Given the description of an element on the screen output the (x, y) to click on. 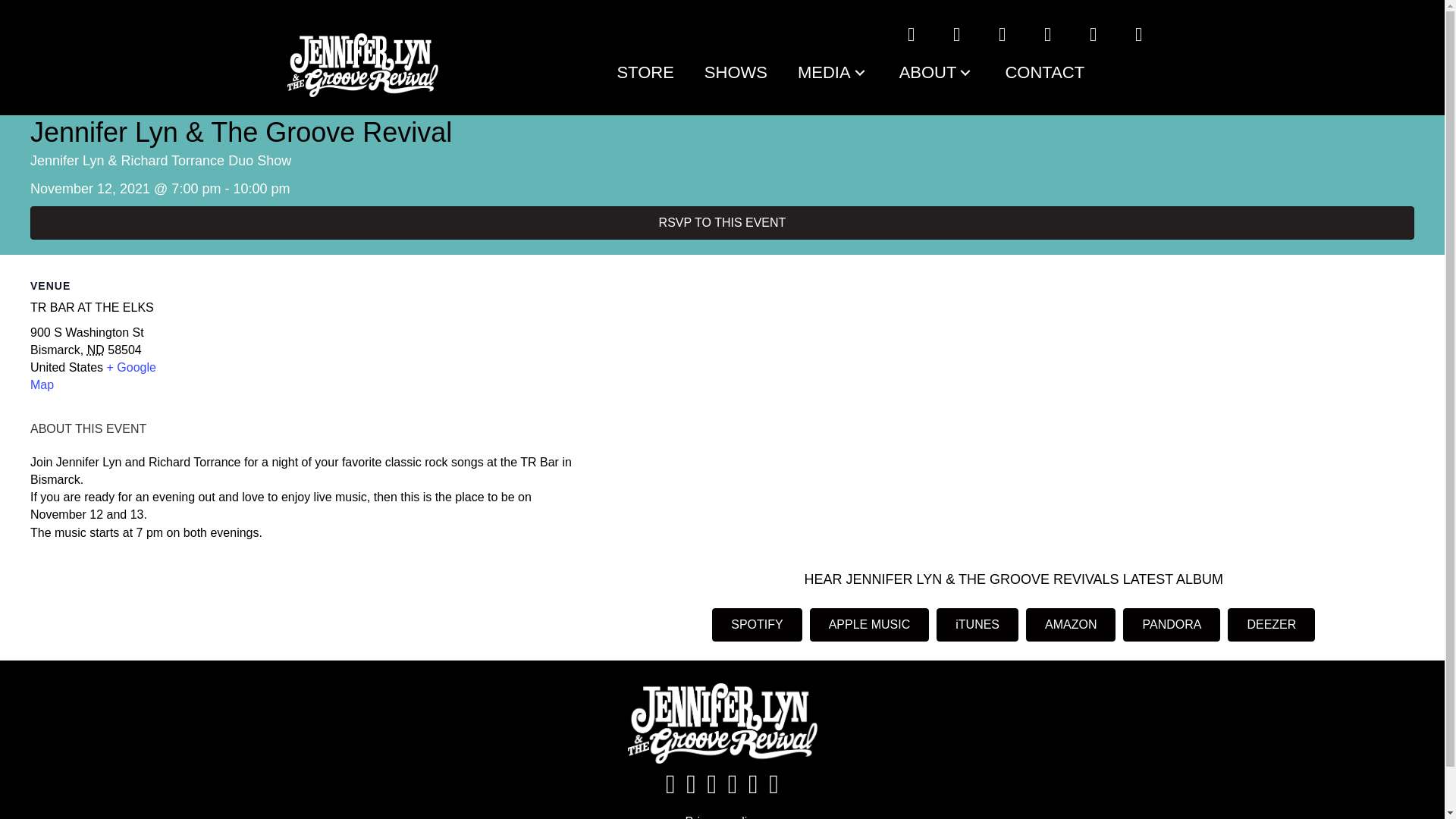
SPOTIFY (756, 624)
RSVP TO THIS EVENT (721, 222)
STORE (644, 72)
Apple Music (1138, 34)
SHOWS (735, 72)
iTUNES (976, 624)
Facebook (910, 34)
Instagram (956, 34)
Spotify (1046, 34)
ABOUT (936, 72)
APPLE MUSIC (869, 624)
AMAZON (1070, 624)
Amazon Music (1093, 34)
PANDORA (1171, 624)
